Given the description of an element on the screen output the (x, y) to click on. 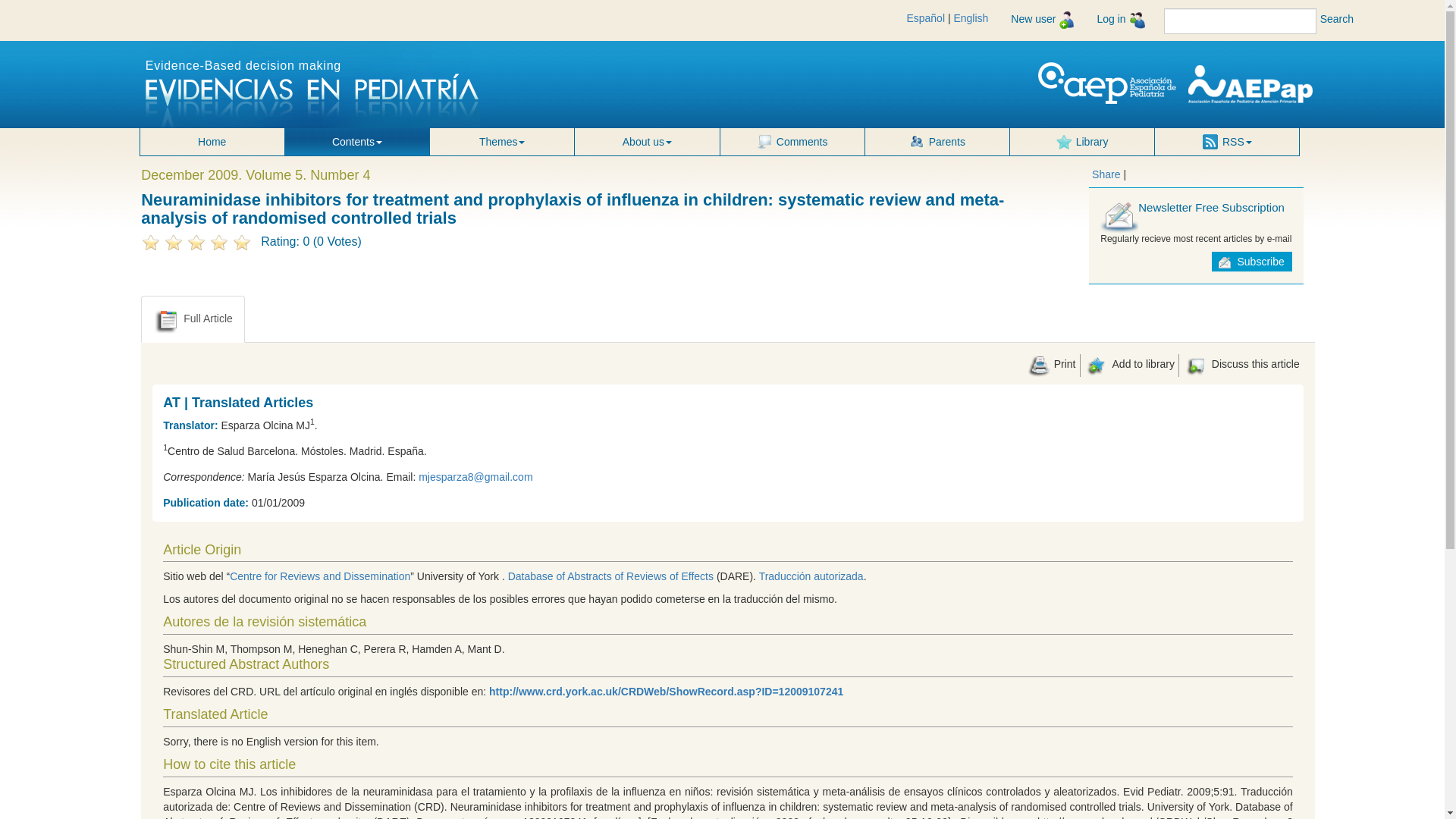
Contents (357, 141)
Log in (1120, 20)
Home (211, 141)
Themes (501, 141)
New user (1041, 20)
English (970, 18)
